Given the description of an element on the screen output the (x, y) to click on. 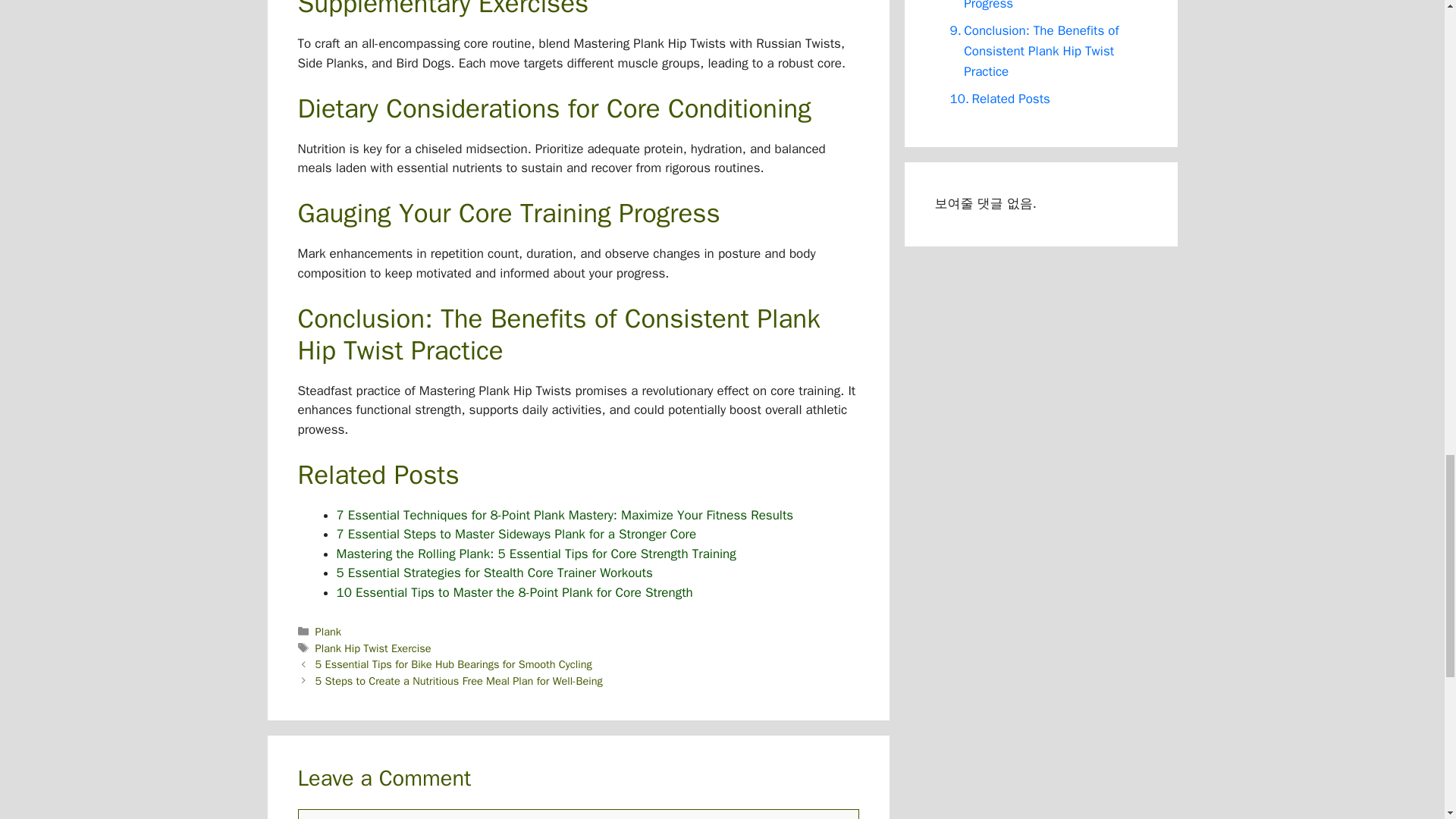
5 Essential Strategies for Stealth Core Trainer Workouts (494, 572)
Plank Hip Twist Exercise (372, 648)
5 Steps to Create a Nutritious Free Meal Plan for Well-Being (458, 680)
Plank (327, 631)
5 Essential Tips for Bike Hub Bearings for Smooth Cycling (453, 663)
